Given the description of an element on the screen output the (x, y) to click on. 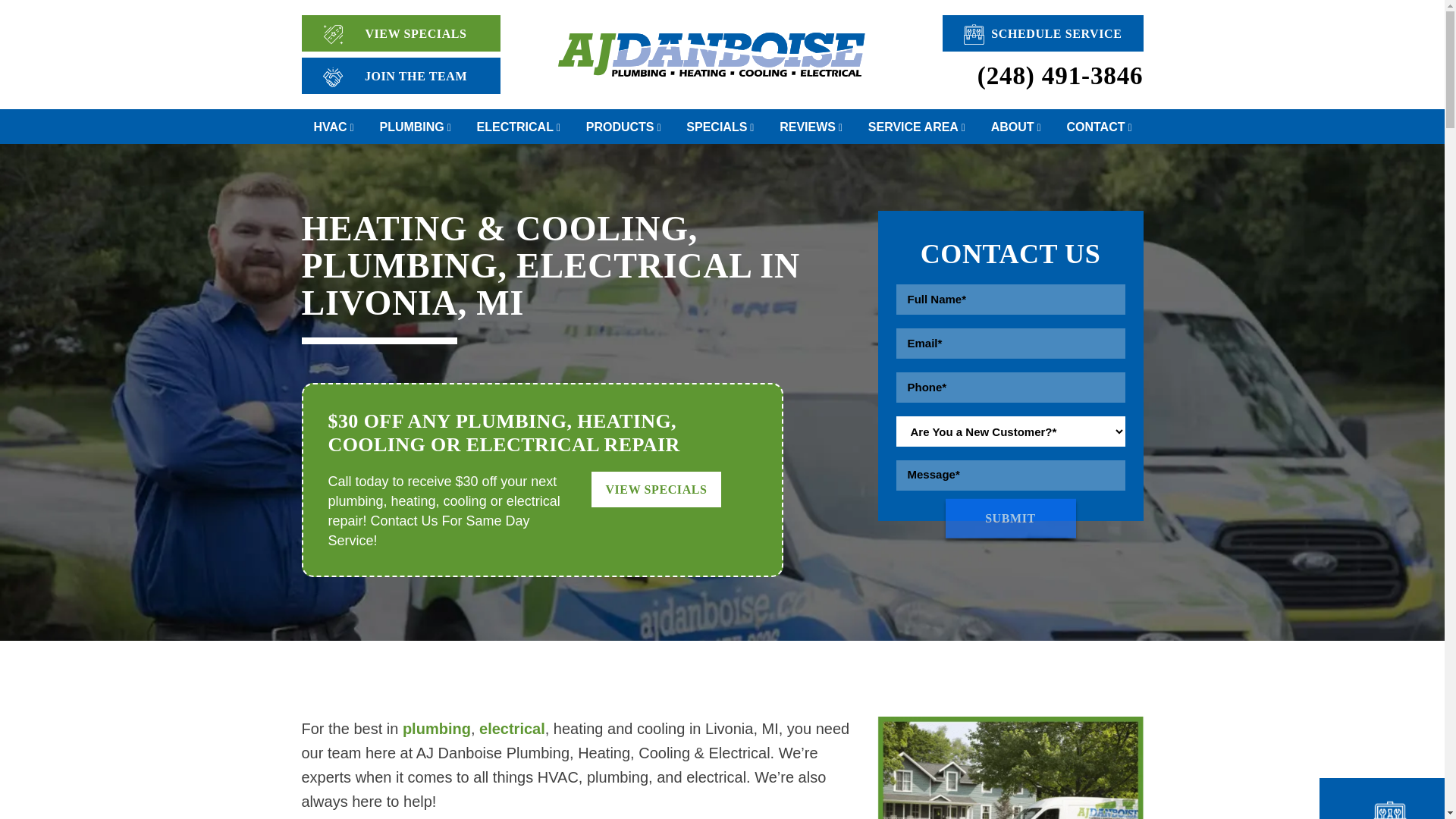
ELECTRICAL (518, 126)
VIEW SPECIALS (400, 33)
SPECIALS (720, 126)
PRODUCTS (624, 126)
SCHEDULE SERVICE (1042, 33)
PLUMBING (415, 126)
JOIN THE TEAM (400, 75)
HVAC (334, 126)
Submit (1009, 518)
